Given the description of an element on the screen output the (x, y) to click on. 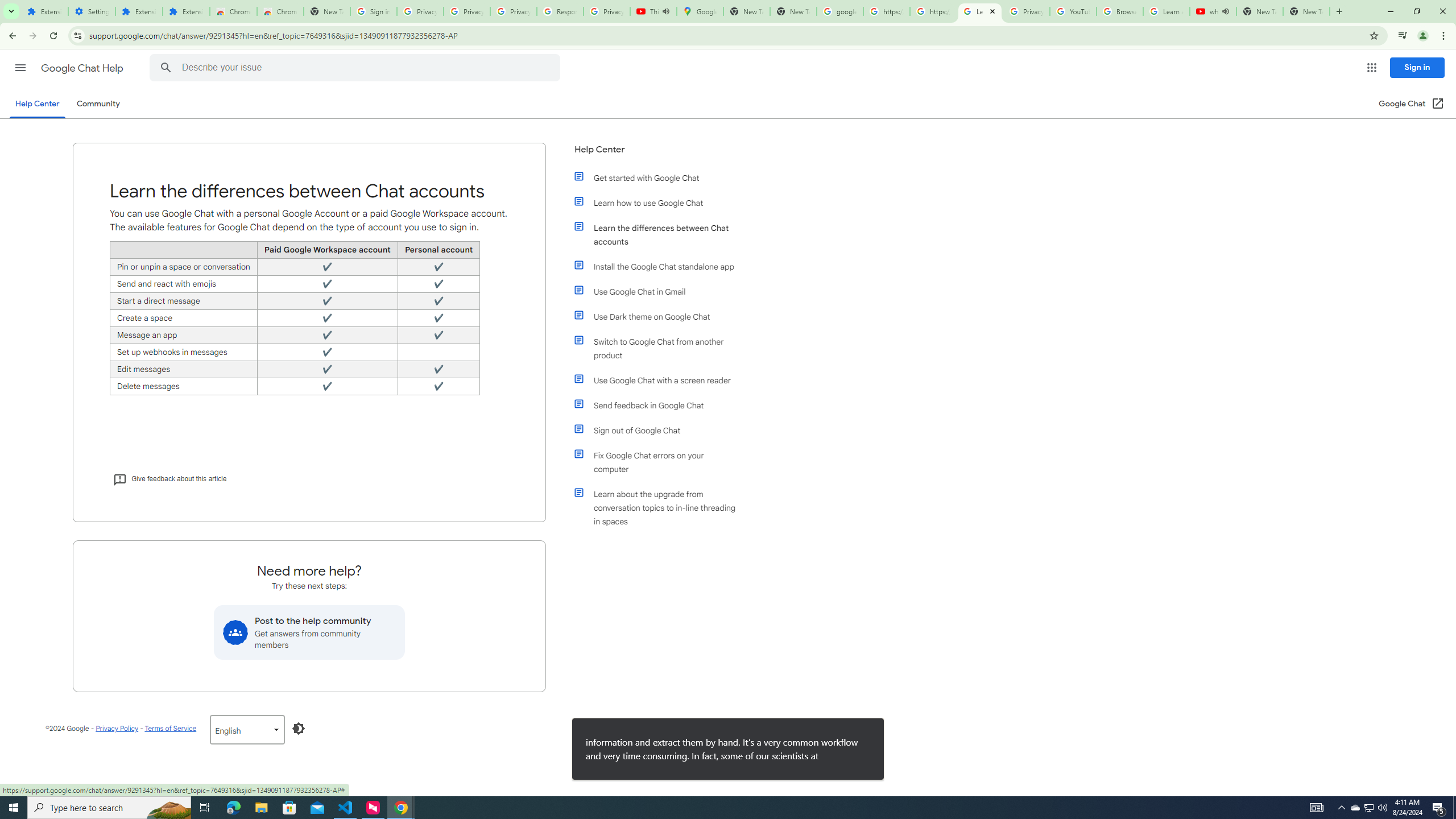
Learn how to use Google Chat (661, 202)
Learn the differences between Chat accounts (661, 234)
Chrome Web Store (233, 11)
Use Google Chat in Gmail (661, 291)
Install the Google Chat standalone app (661, 266)
Help Center (656, 153)
Google Chat Help (82, 68)
Community (97, 103)
